Given the description of an element on the screen output the (x, y) to click on. 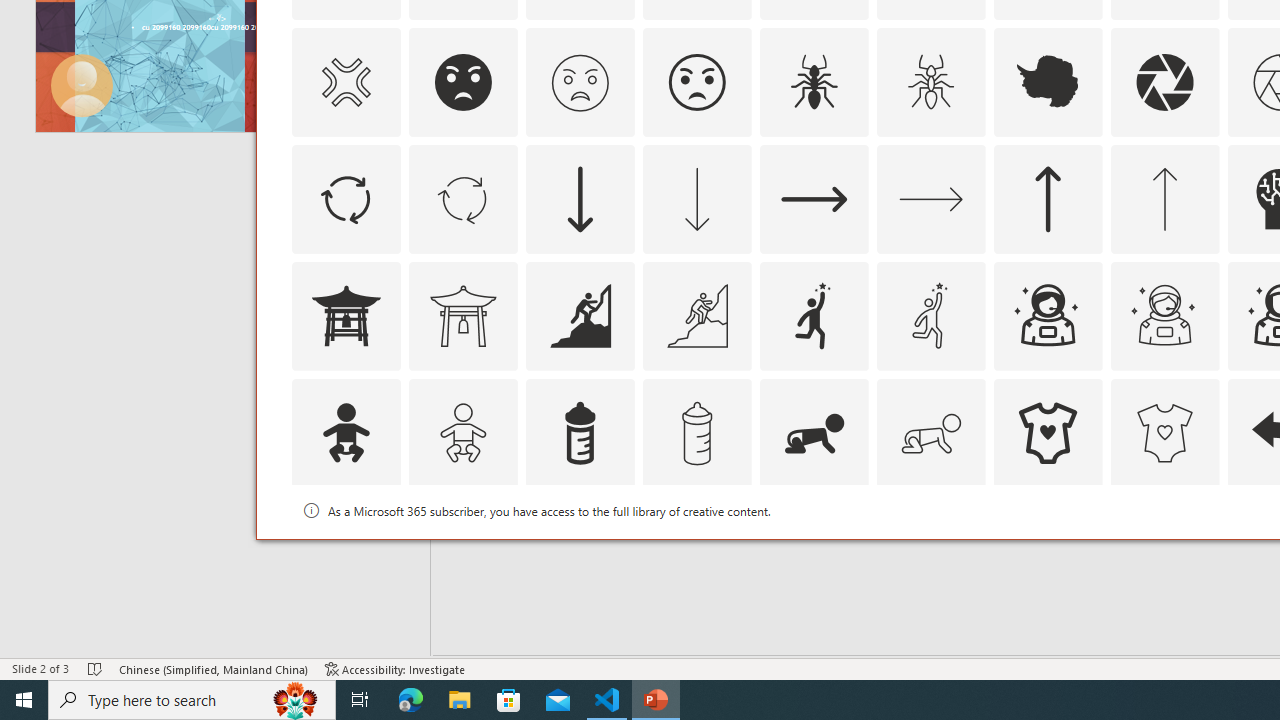
Microsoft Edge (411, 699)
AutomationID: Icons_BabyBottle_M (696, 432)
AutomationID: Icons_BabyOnesie_M (1164, 432)
AutomationID: Icons_ArrowCircle_M (463, 198)
